Given the description of an element on the screen output the (x, y) to click on. 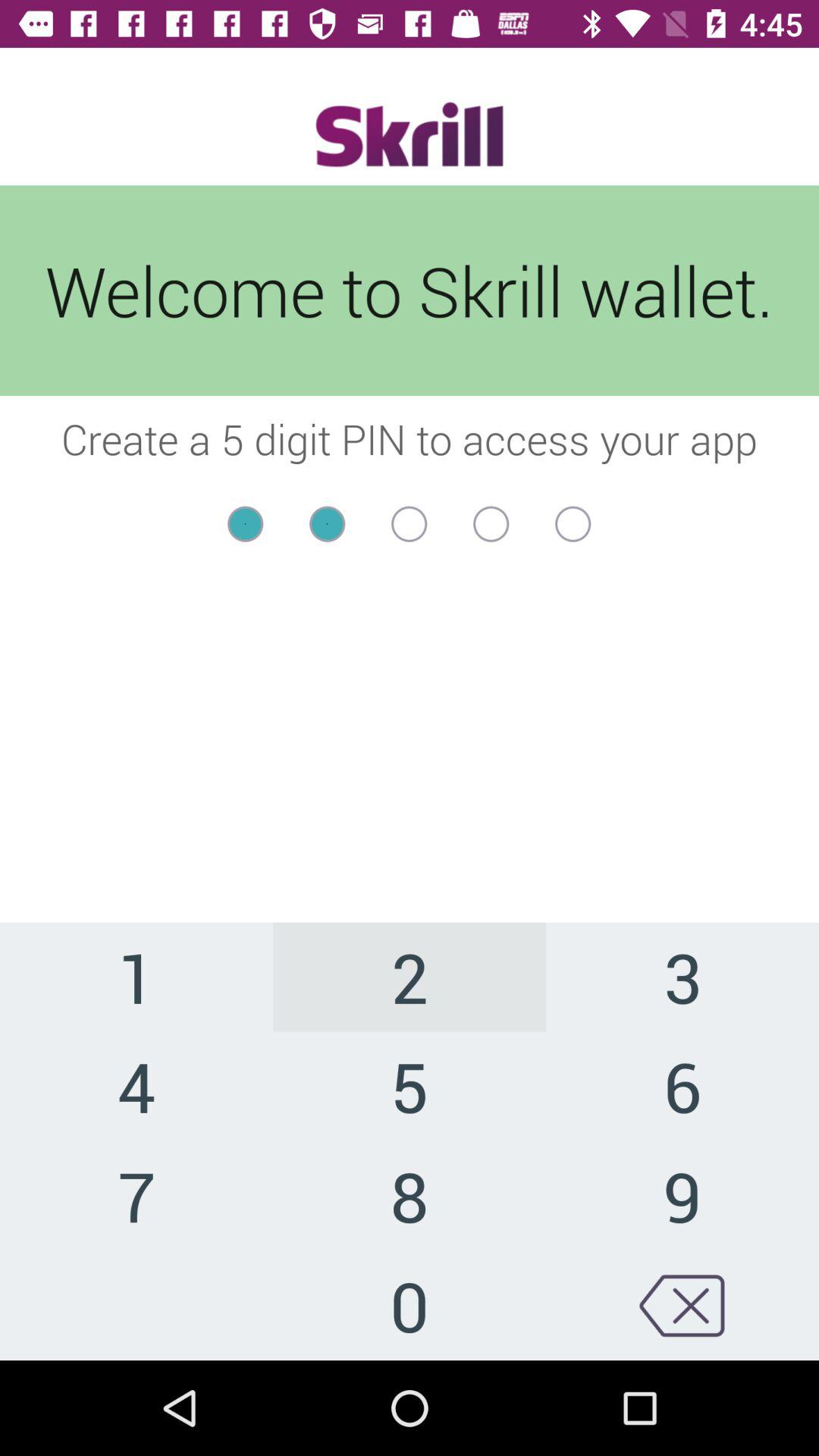
choose the item next to 4 icon (409, 1195)
